Given the description of an element on the screen output the (x, y) to click on. 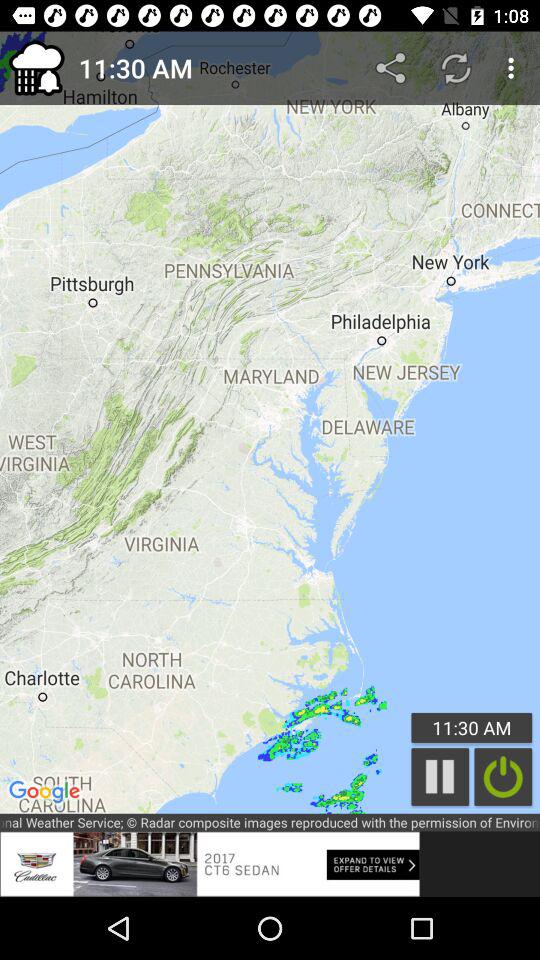
pause (440, 776)
